Given the description of an element on the screen output the (x, y) to click on. 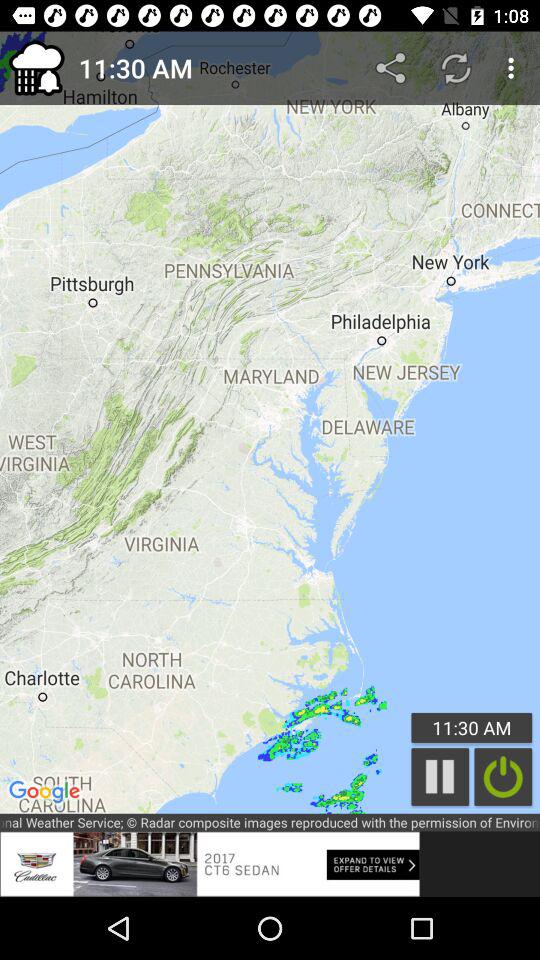
pause (440, 776)
